Given the description of an element on the screen output the (x, y) to click on. 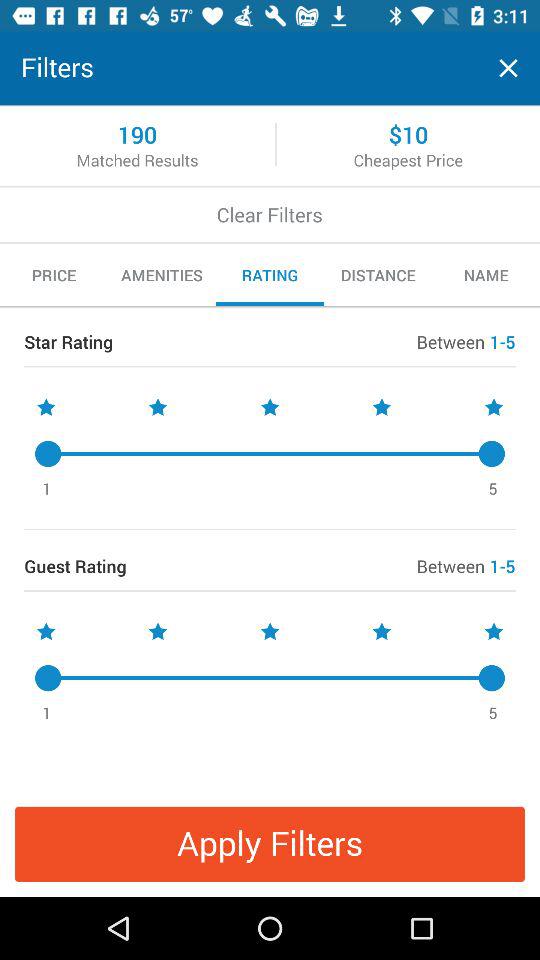
swipe to apply filters (269, 843)
